Given the description of an element on the screen output the (x, y) to click on. 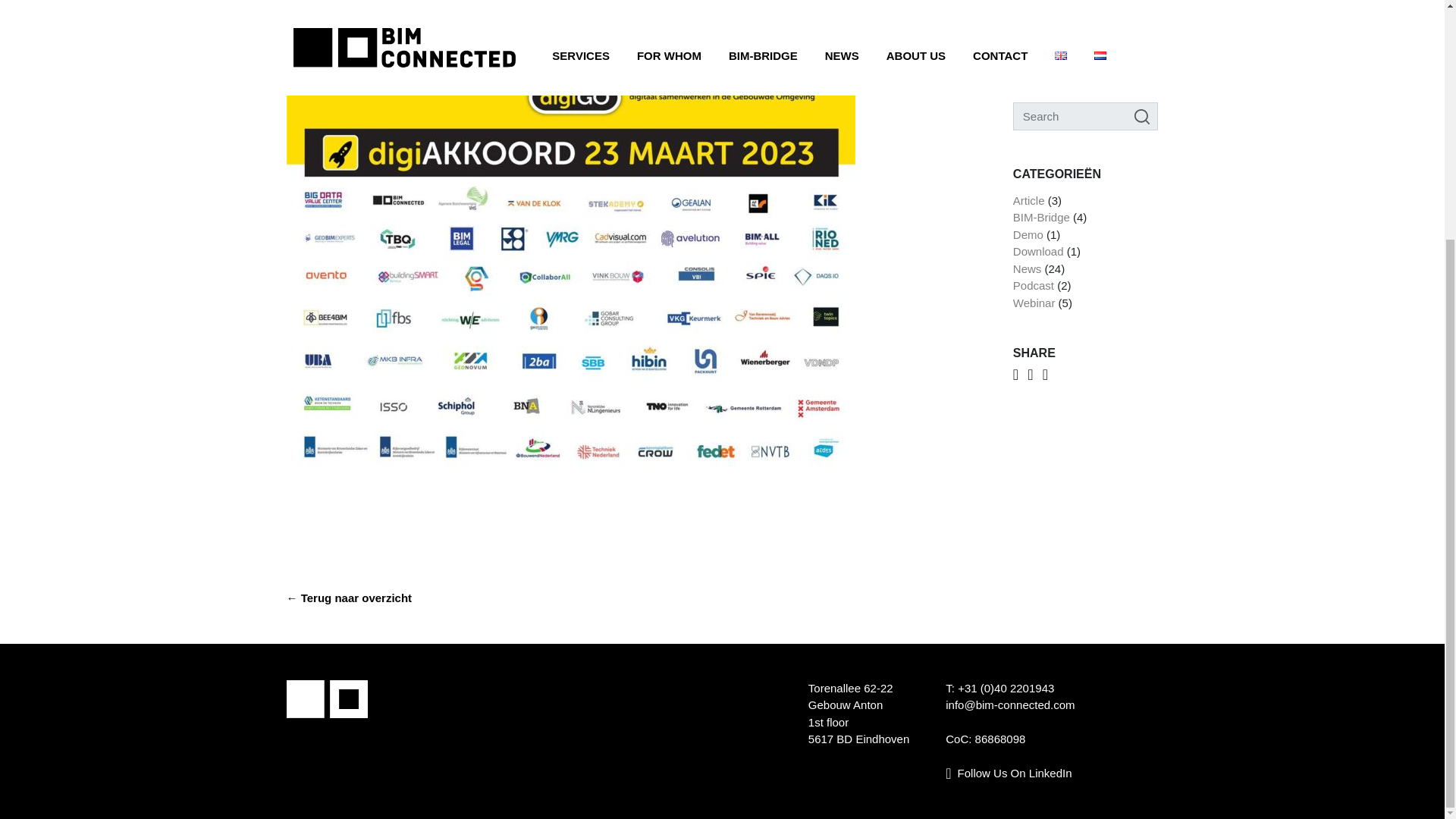
Webinar (1034, 51)
Download (1038, 3)
LinkedIn (1007, 772)
News (1027, 18)
here (483, 43)
Podcast (1033, 34)
Follow Us On LinkedIn (1007, 772)
